Given the description of an element on the screen output the (x, y) to click on. 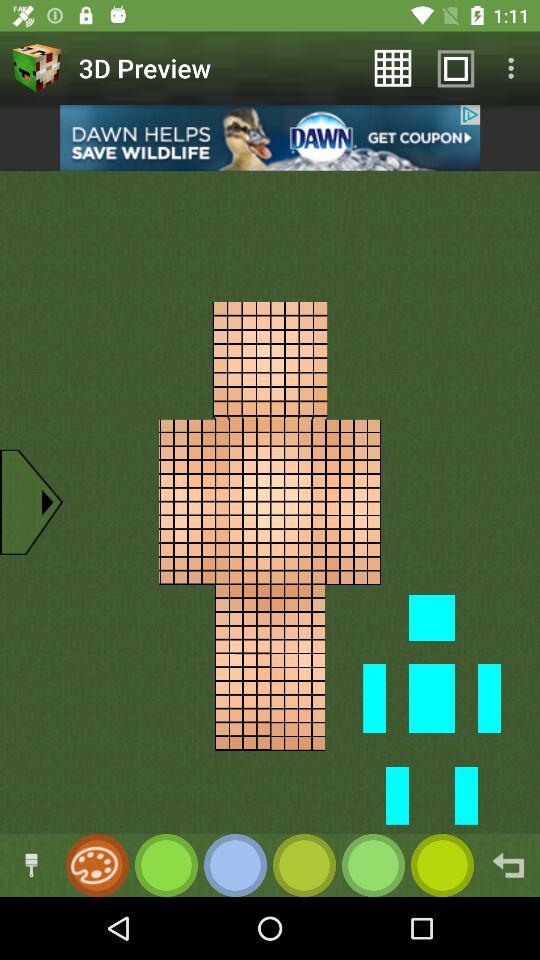
change color to blue (235, 865)
